Given the description of an element on the screen output the (x, y) to click on. 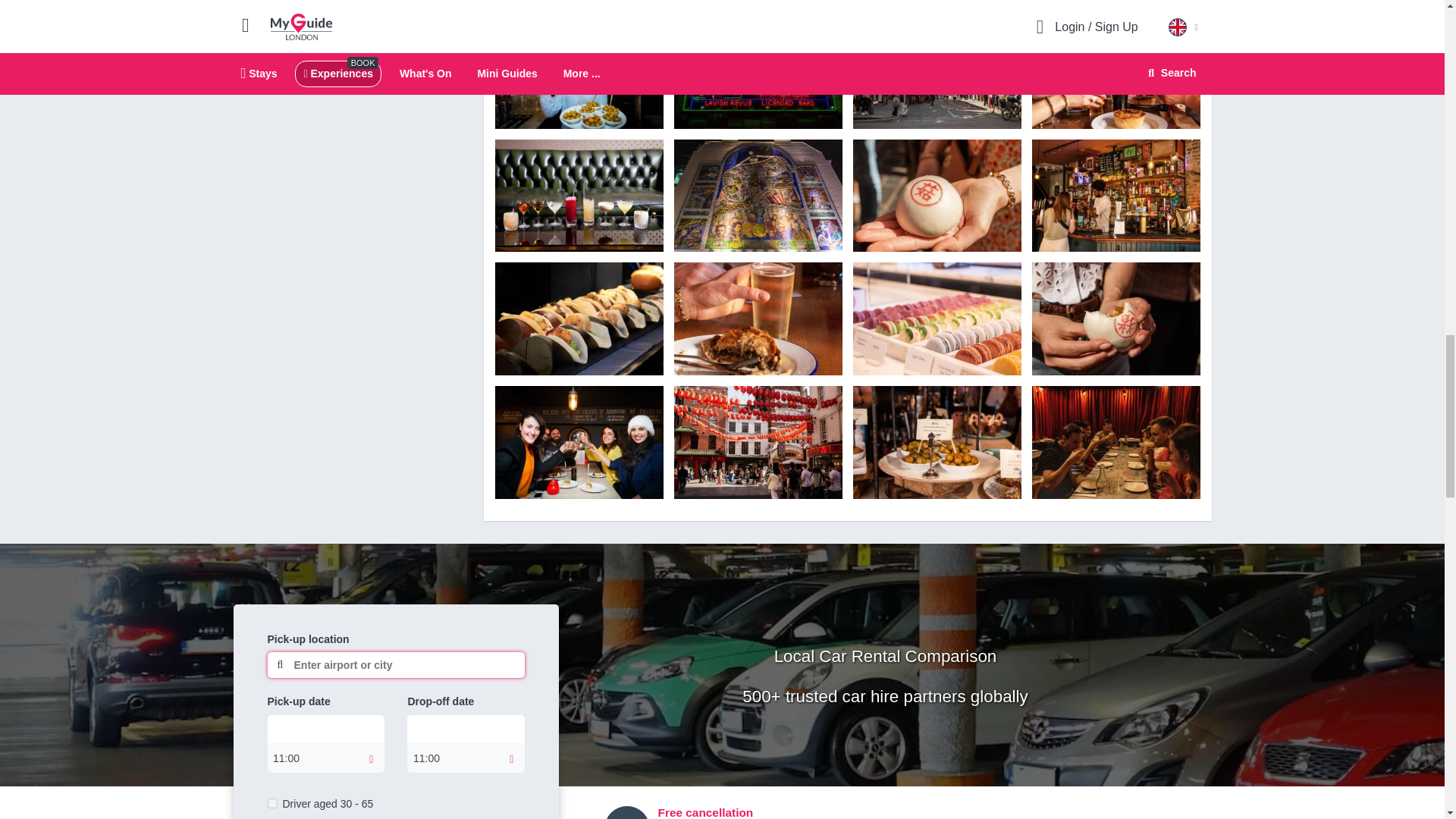
on (271, 802)
